Given the description of an element on the screen output the (x, y) to click on. 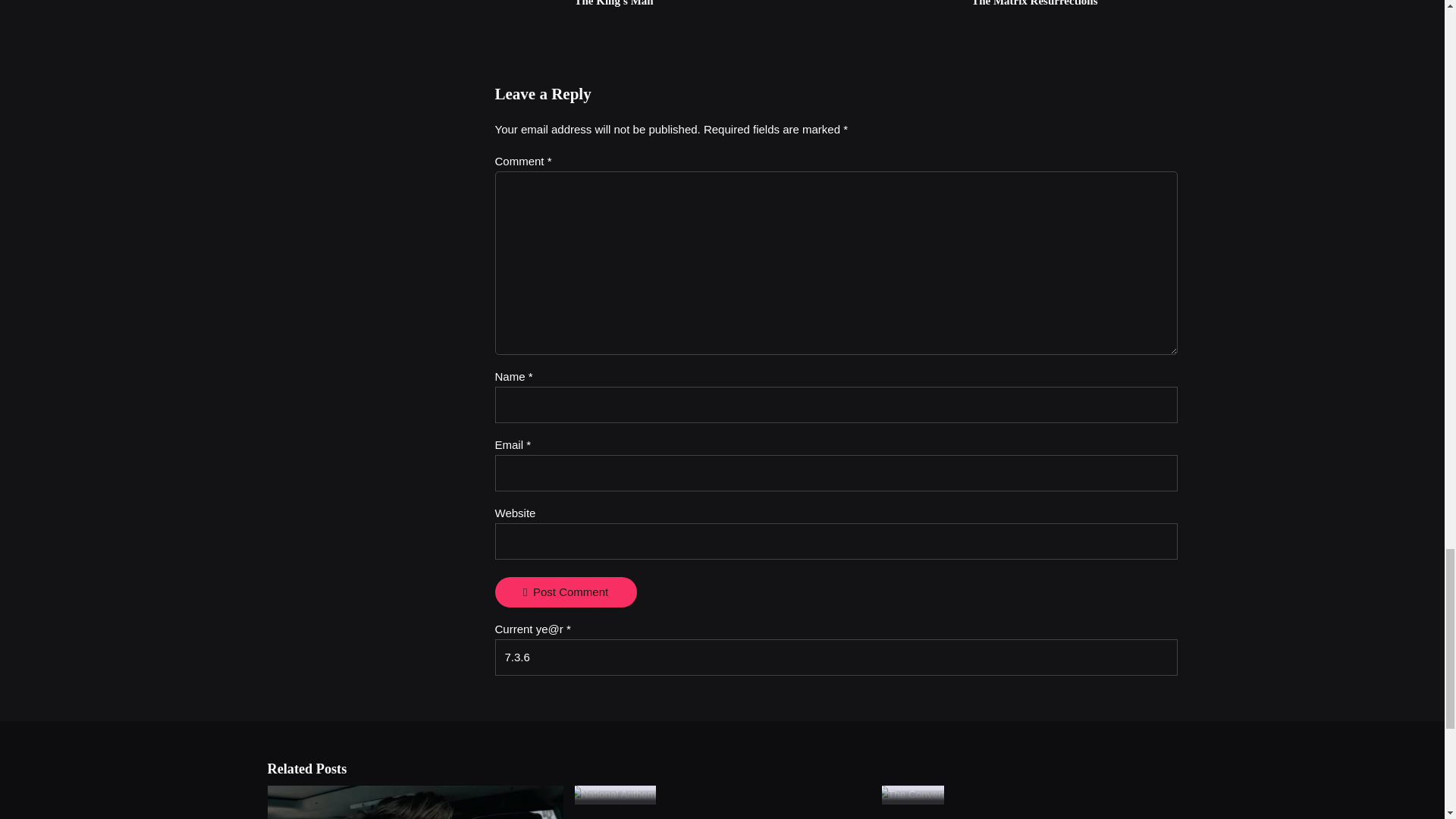
Post Comment (565, 592)
Twisters (412, 802)
7.3.6 (835, 657)
National Anthem (1005, 14)
The Convert (665, 14)
